Given the description of an element on the screen output the (x, y) to click on. 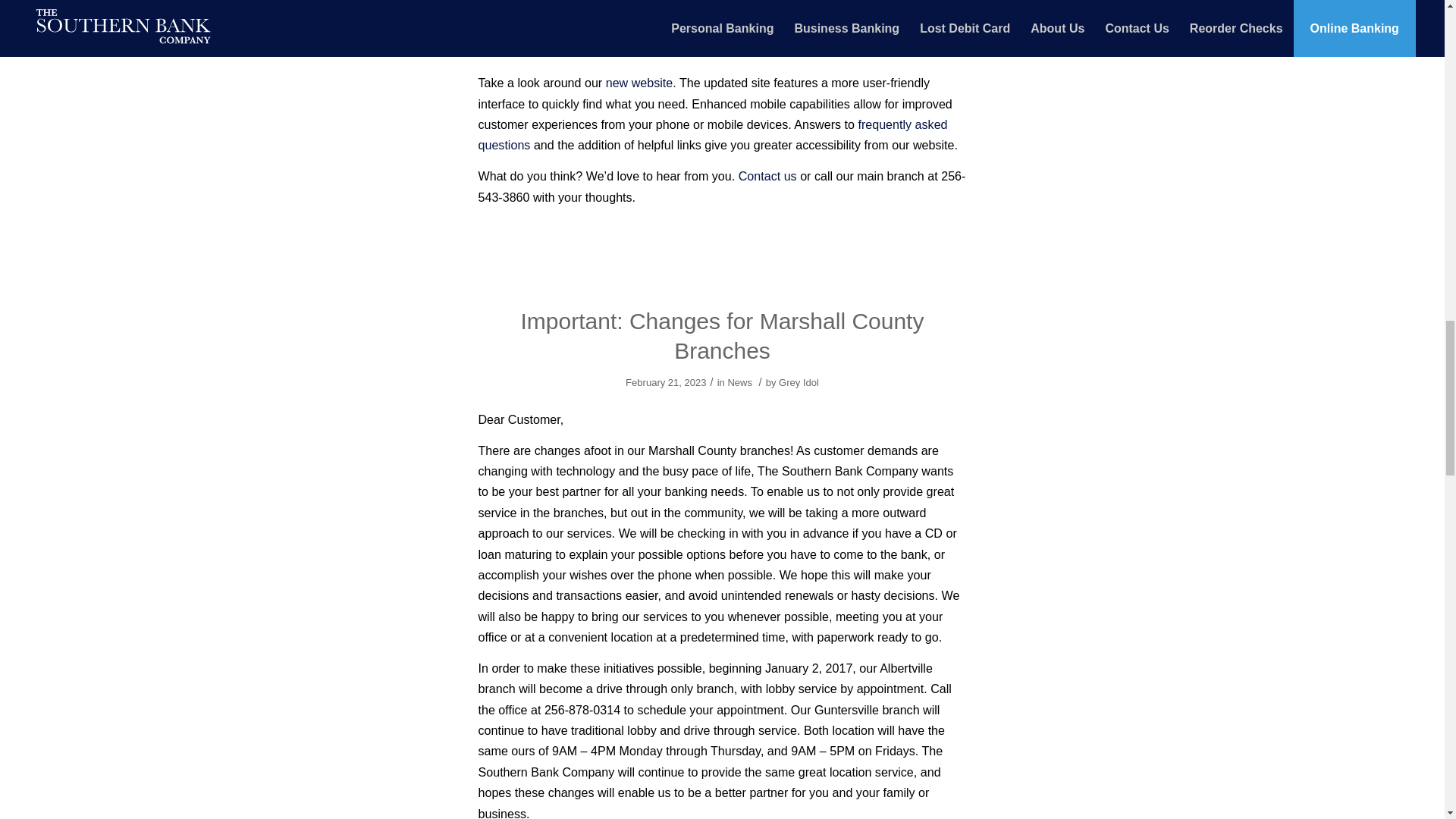
Contact us (767, 175)
News (739, 382)
News (739, 45)
Grey Idol (798, 45)
new website. (641, 82)
Grey Idol (798, 382)
A New Look for Sobanco.com (722, 13)
Important: Changes for Marshall County Branches (722, 335)
frequently asked questions (712, 134)
